Given the description of an element on the screen output the (x, y) to click on. 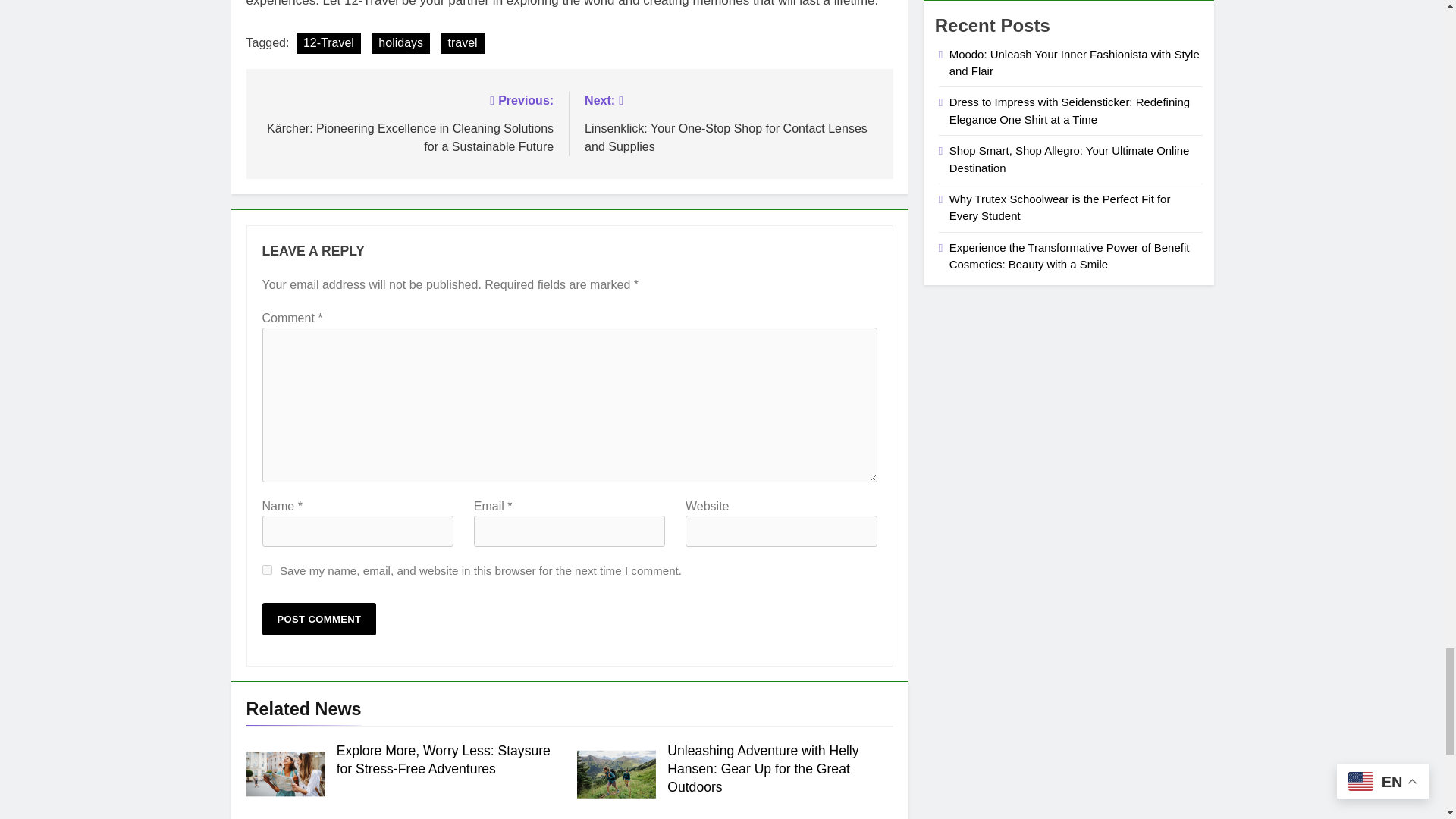
Post Comment (319, 618)
yes (267, 569)
